Given the description of an element on the screen output the (x, y) to click on. 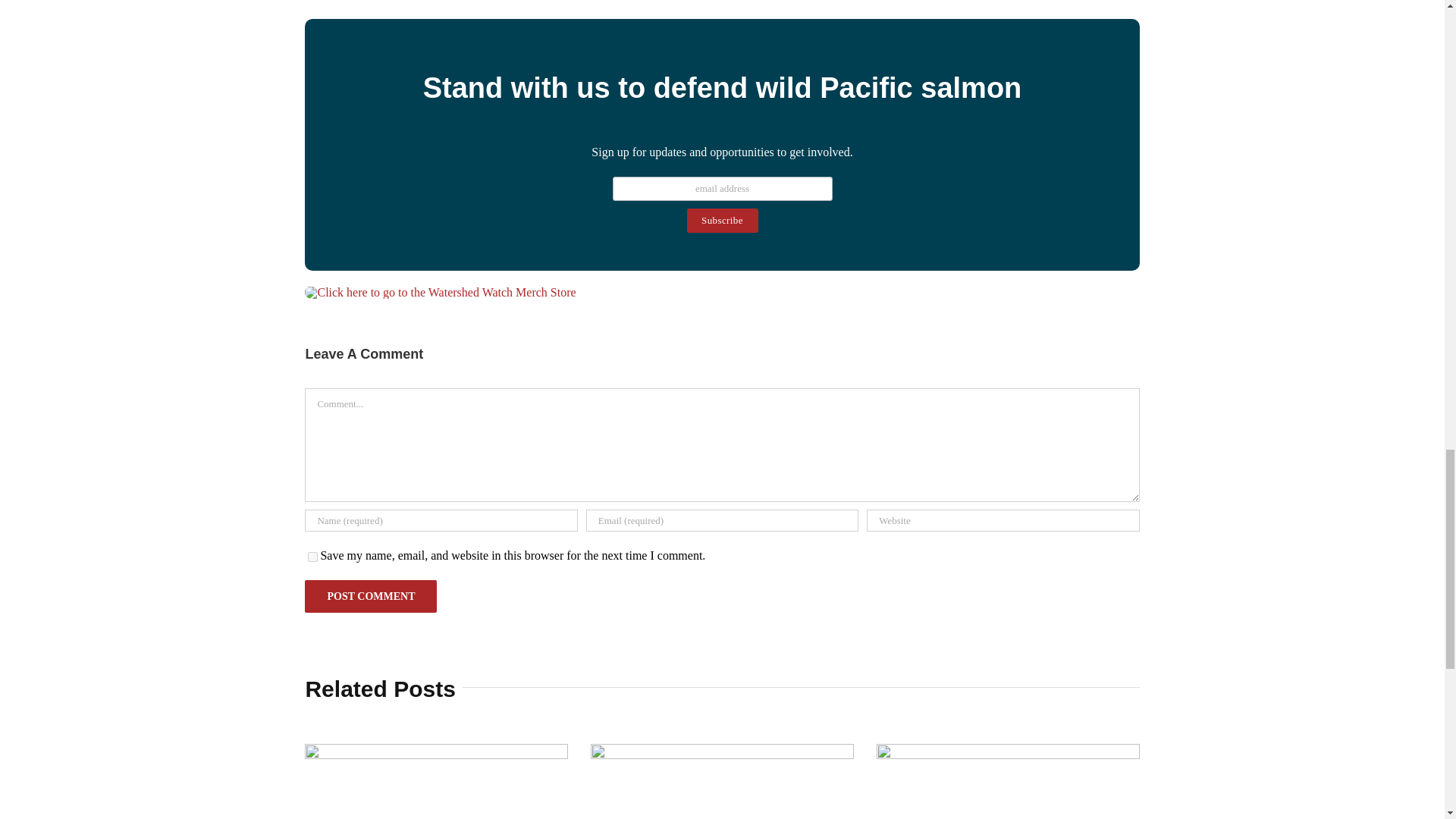
yes (312, 556)
Post Comment (370, 595)
Subscribe (722, 220)
